Given the description of an element on the screen output the (x, y) to click on. 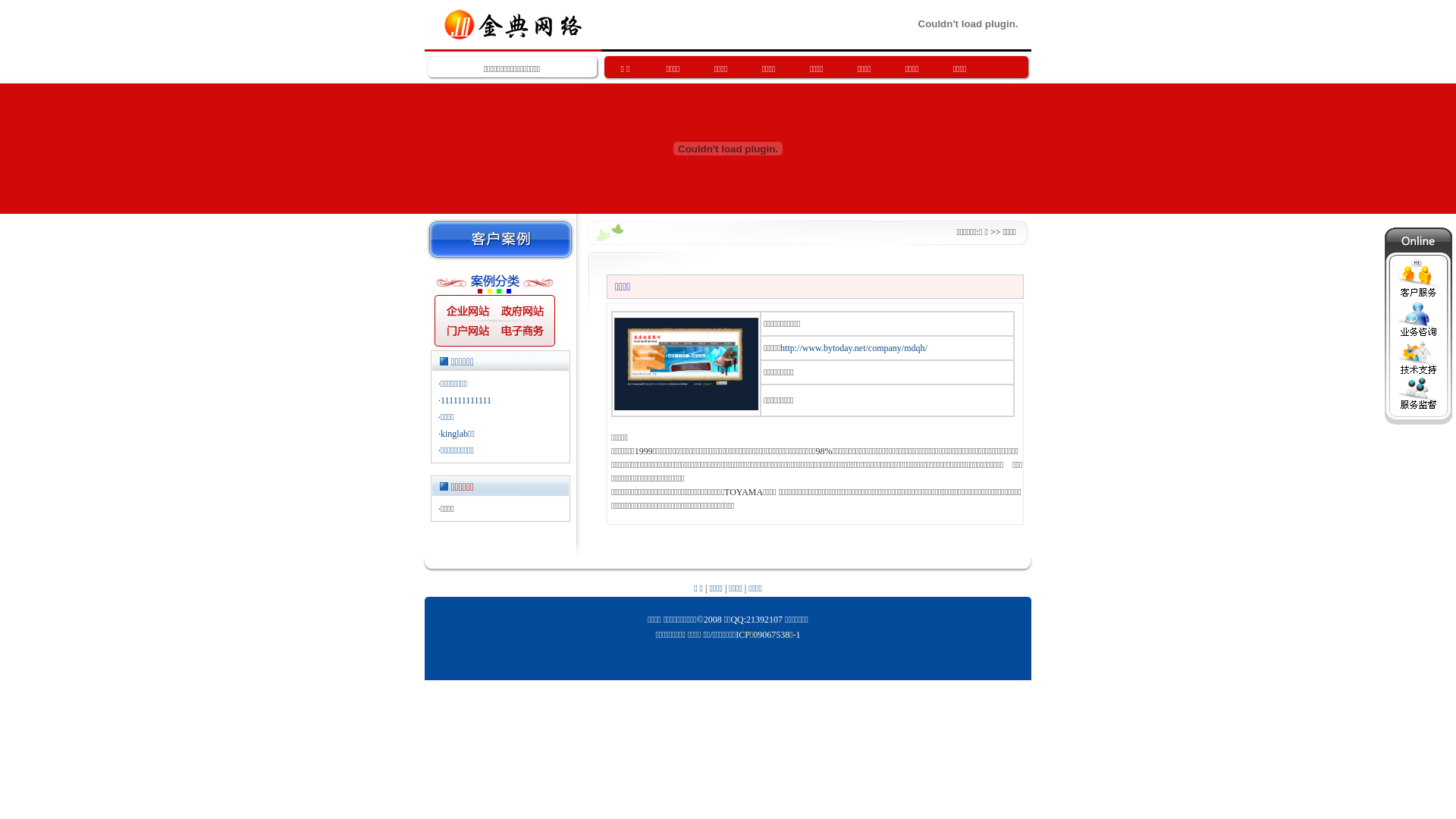
http://www.bytoday.net/company/mdqh/ Element type: text (853, 347)
111111111111 Element type: text (465, 400)
